Given the description of an element on the screen output the (x, y) to click on. 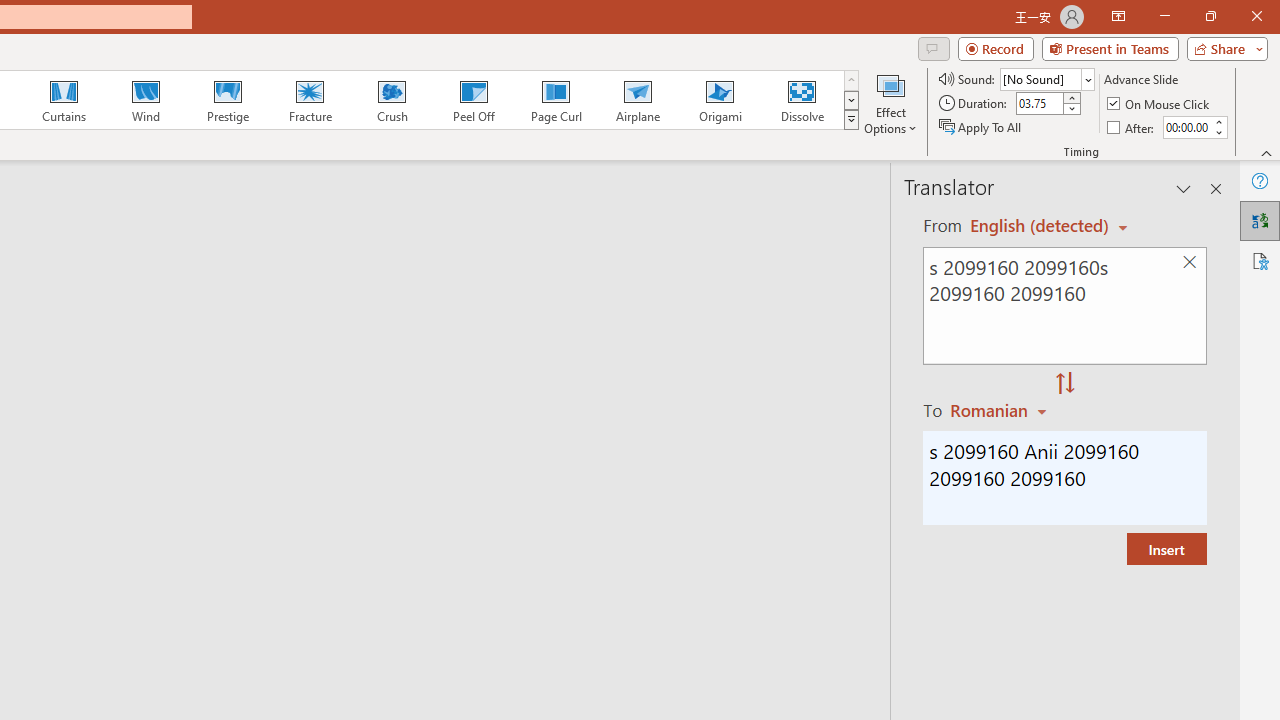
Dissolve (802, 100)
Wind (145, 100)
On Mouse Click (1159, 103)
Duration (1039, 103)
